Given the description of an element on the screen output the (x, y) to click on. 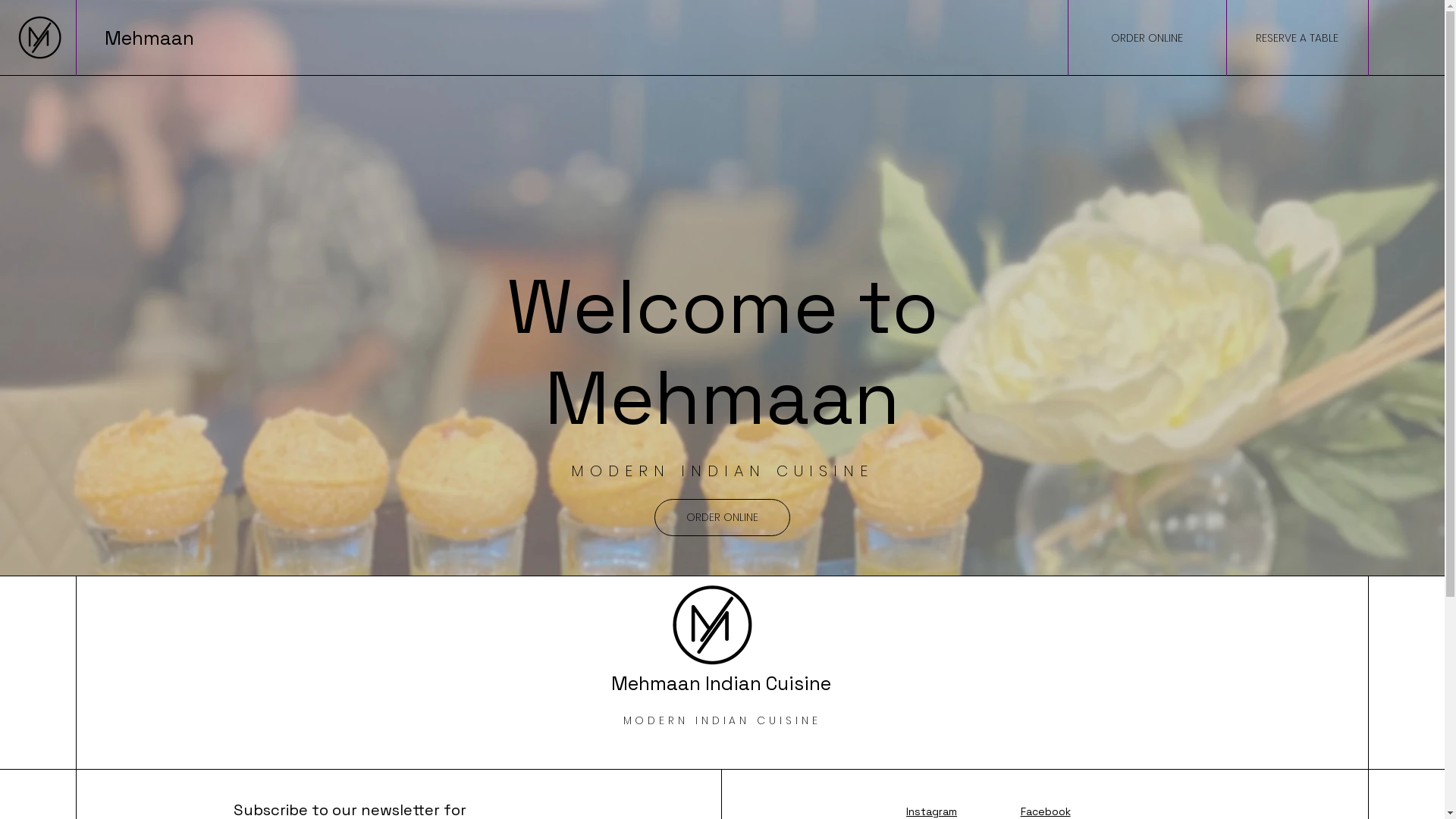
Instagram Element type: text (931, 811)
ORDER ONLINE Element type: text (721, 517)
12f20221-0280-461a-9341-646efb362ade.png Element type: hover (39, 37)
12f20221-0280-461a-9341-646efb362ade.png Element type: hover (712, 625)
Mehmaan  Element type: text (151, 37)
Facebook Element type: text (1045, 811)
RESERVE A TABLE Element type: text (1297, 37)
ORDER ONLINE Element type: text (1146, 37)
